Given the description of an element on the screen output the (x, y) to click on. 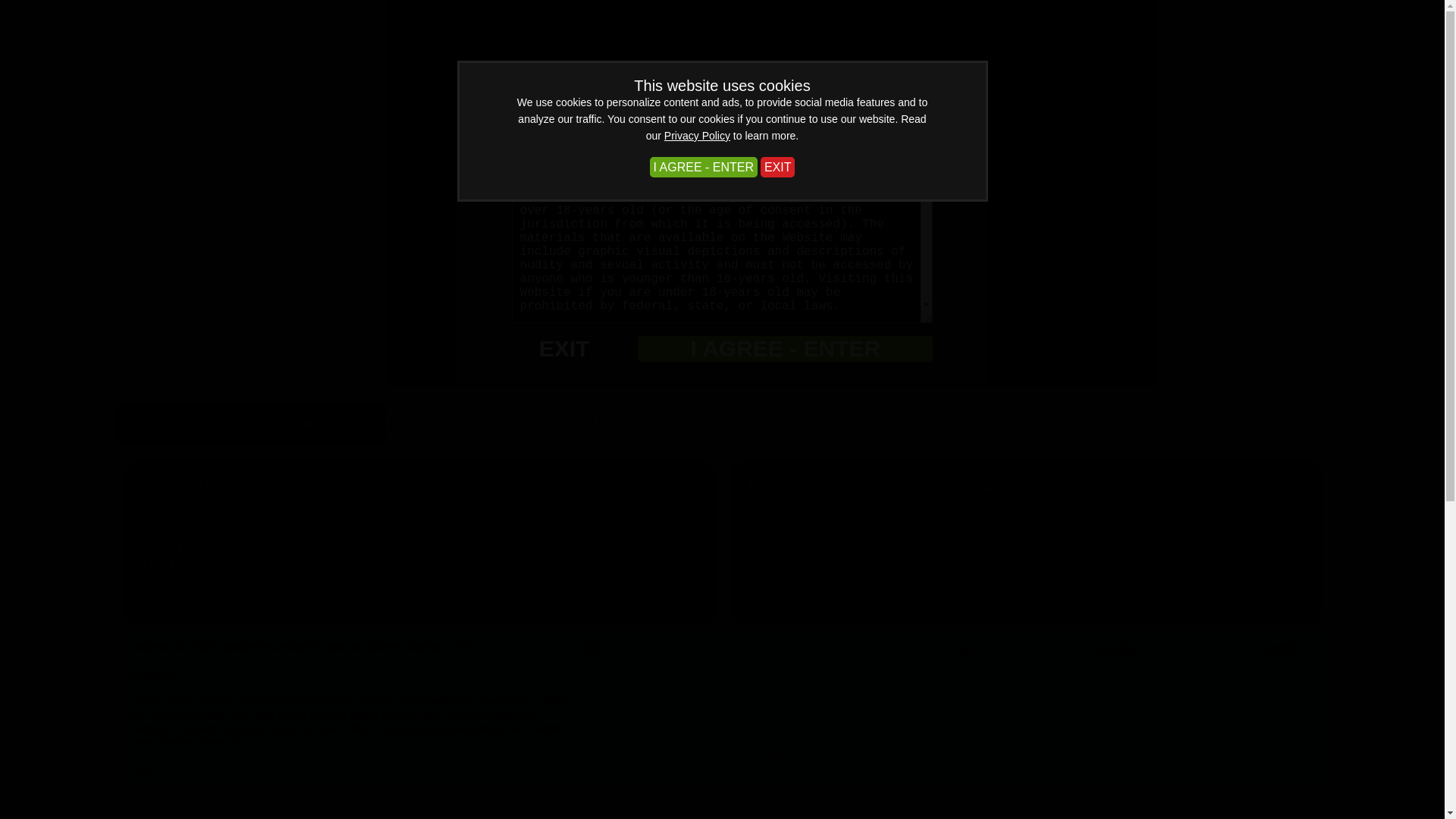
Brook Logan (387, 564)
Categories (319, 423)
Jenny James (384, 510)
Jenny James (388, 546)
Sophie B (261, 660)
Links (603, 423)
Models (408, 423)
See More Models (1265, 800)
Home (150, 423)
10-29 Denier Sheer (373, 769)
